Given the description of an element on the screen output the (x, y) to click on. 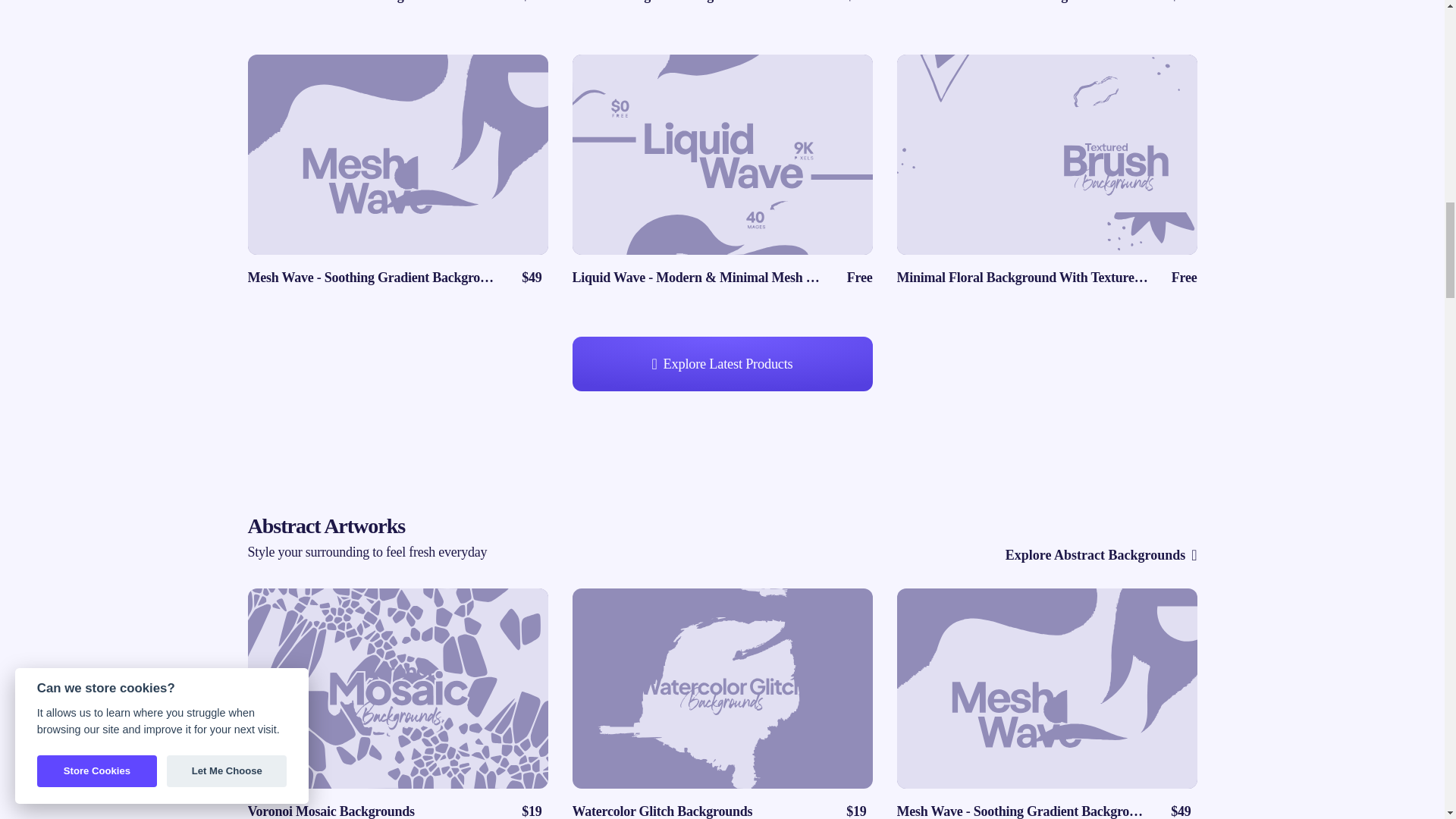
Explore Latest Products (722, 363)
Explore Abstract Backgrounds (1101, 555)
